Given the description of an element on the screen output the (x, y) to click on. 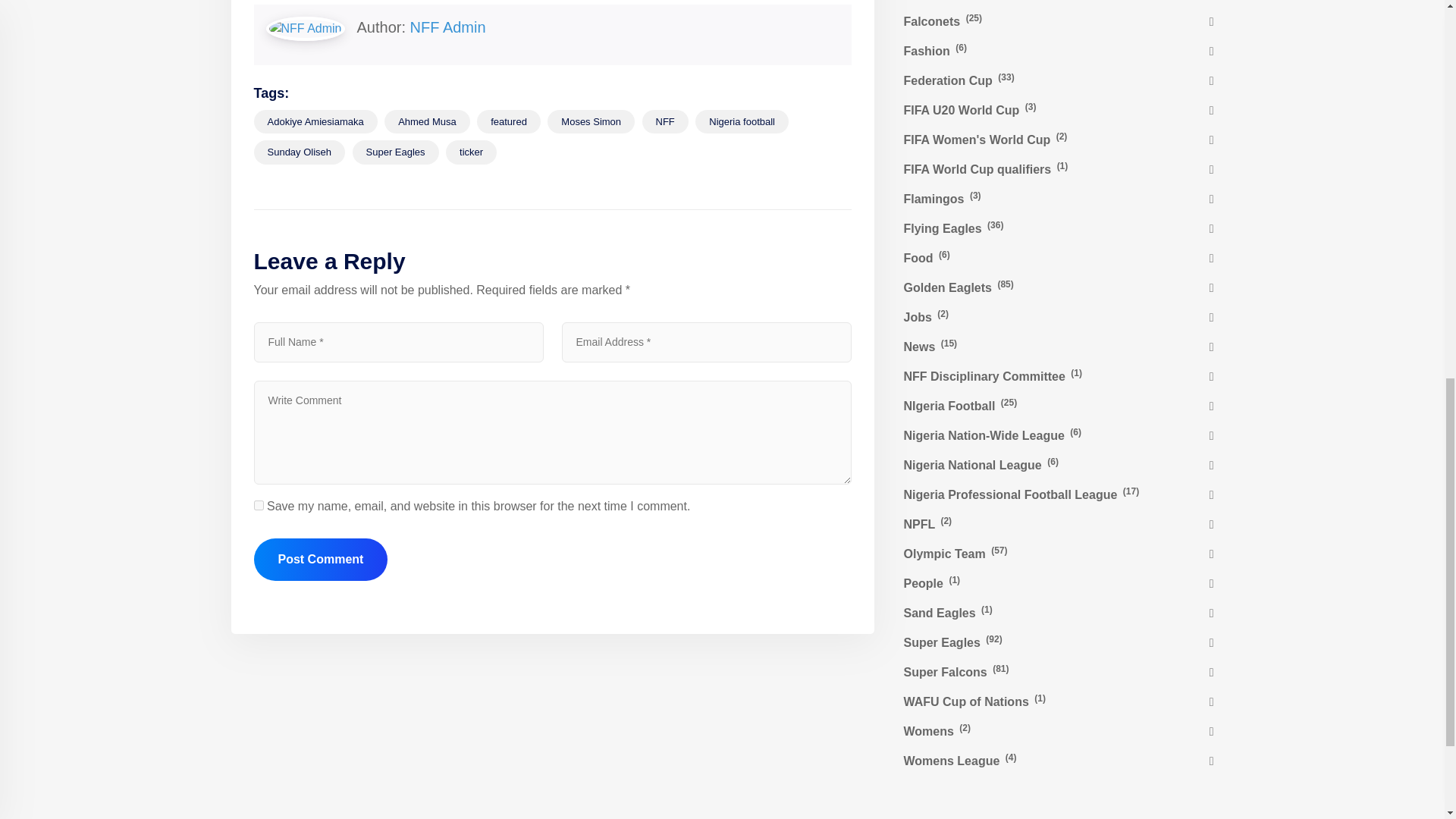
Post Comment (320, 559)
yes (258, 505)
